Given the description of an element on the screen output the (x, y) to click on. 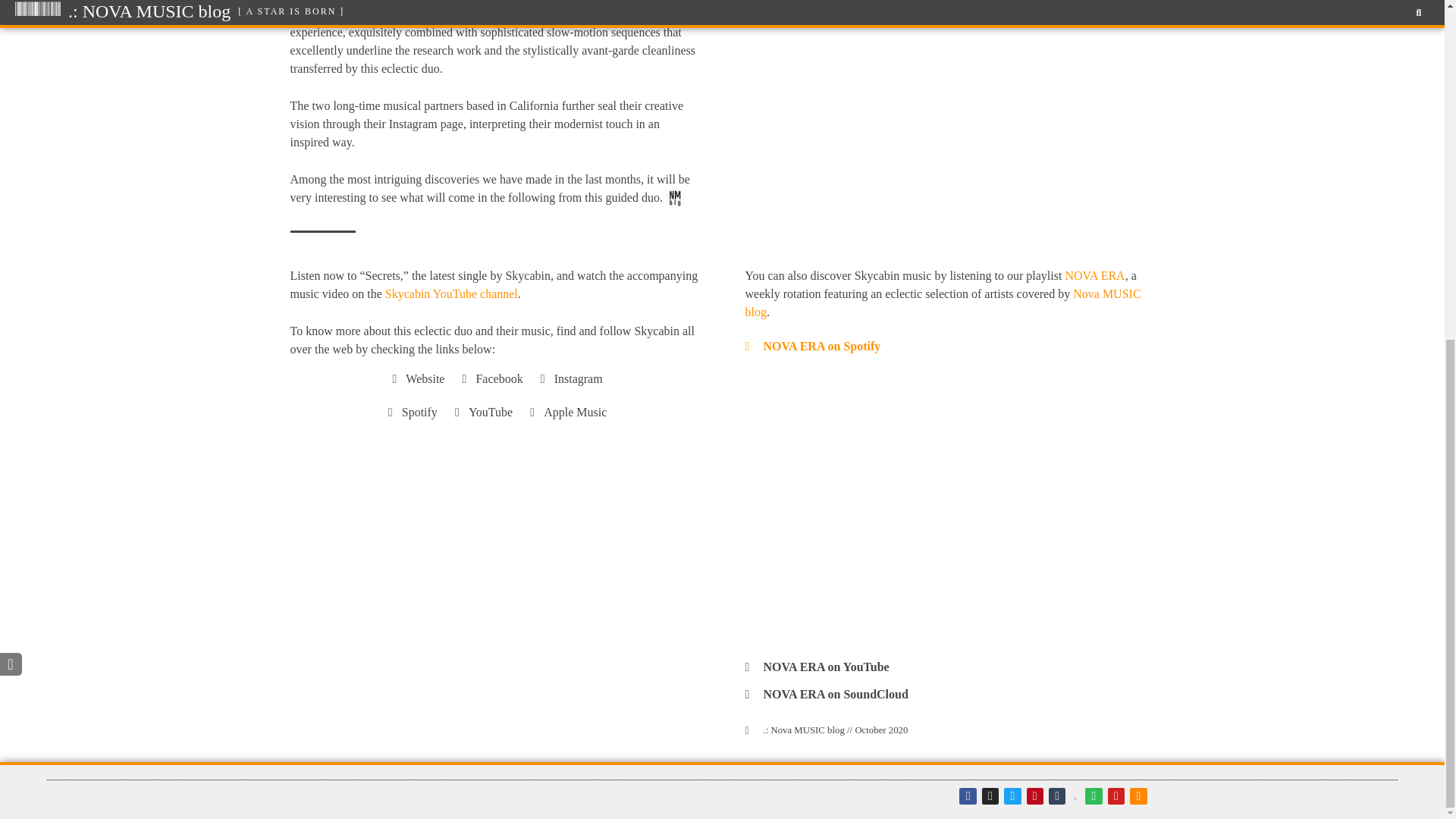
Skycabin YouTube channel (451, 293)
NOVA ERA on YouTube (825, 666)
Spotify (410, 412)
NOVA ERA (1094, 275)
NOVA ERA on Spotify (821, 345)
Facebook (489, 379)
YouTube (480, 412)
NOVA ERA on SoundCloud (834, 694)
Nova MUSIC blog (942, 302)
Website (415, 379)
